Given the description of an element on the screen output the (x, y) to click on. 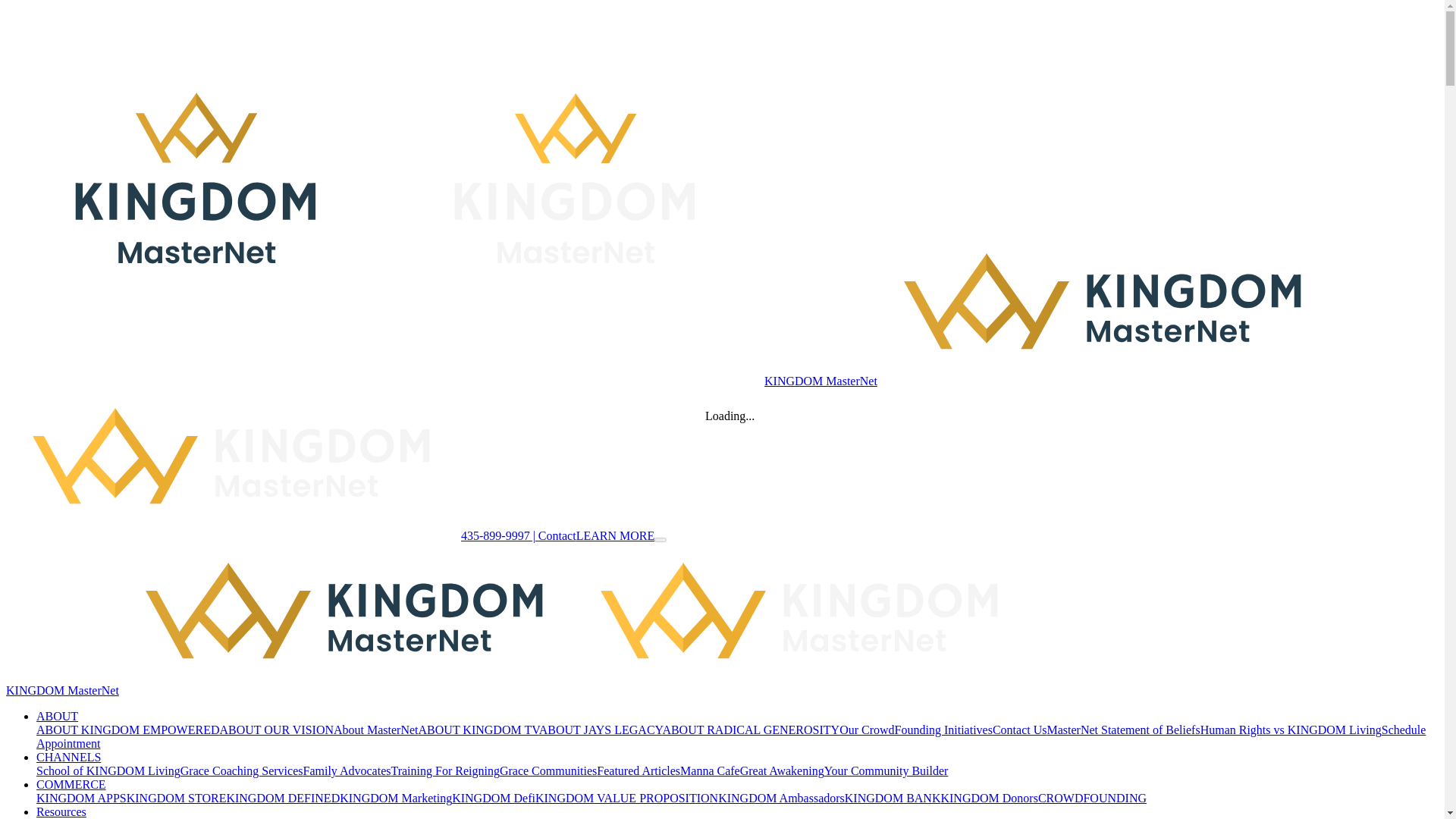
KINGDOM Marketing (395, 797)
Your Community Builder (886, 770)
KINGDOM Ambassadors (780, 797)
KINGDOM Donors (988, 797)
KINGDOM BANK (892, 797)
CROWDFOUNDING (1092, 797)
KINGDOM APPS (81, 797)
COMMERCE (71, 784)
KINGDOM STORE (176, 797)
KINGDOM Defi (493, 797)
